Given the description of an element on the screen output the (x, y) to click on. 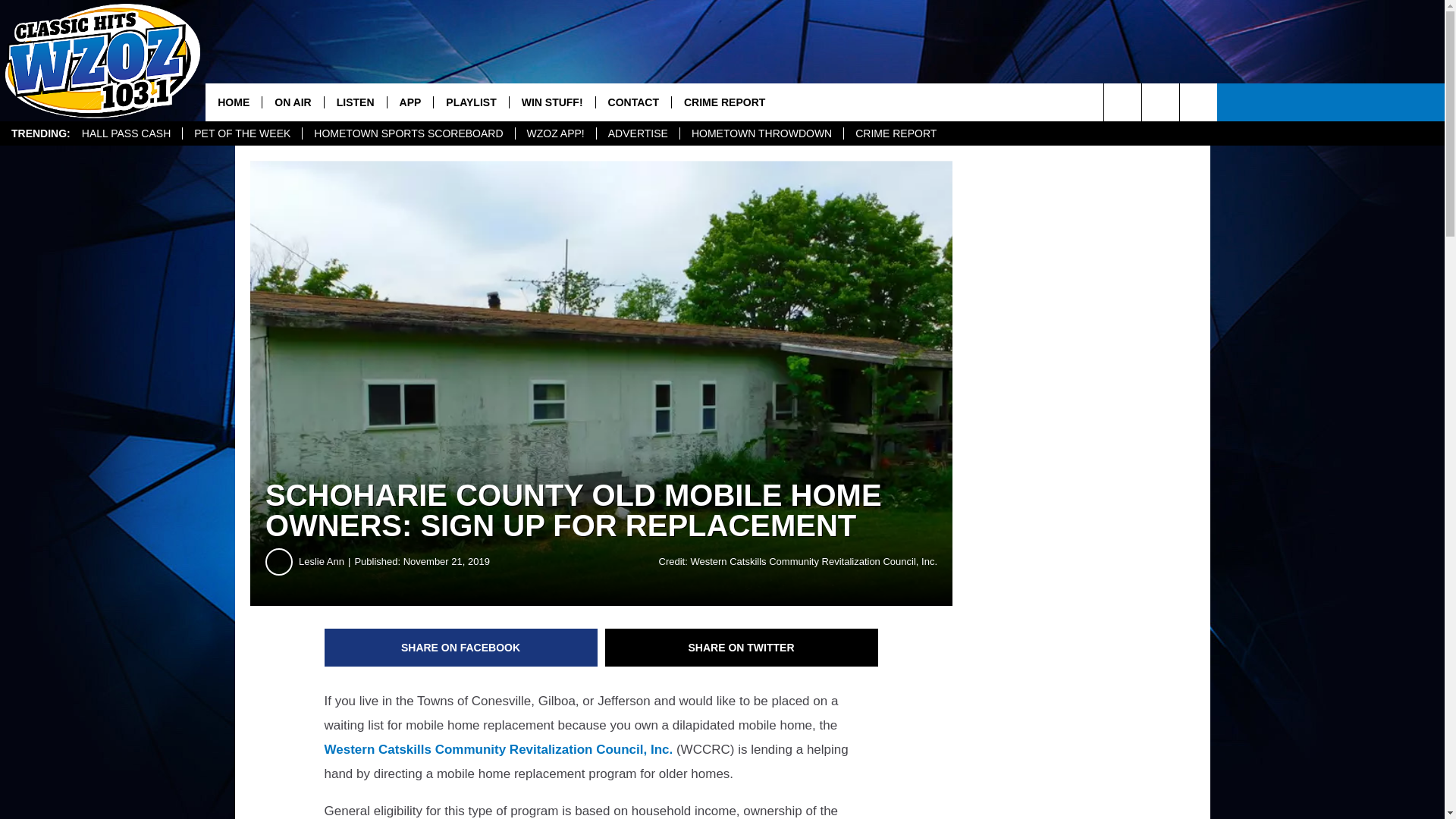
CRIME REPORT (895, 133)
CRIME REPORT (724, 102)
Share on Twitter (741, 647)
HOMETOWN THROWDOWN (761, 133)
ON AIR (292, 102)
HALL PASS CASH (126, 133)
PET OF THE WEEK (241, 133)
Share on Facebook (460, 647)
LISTEN (355, 102)
HOMETOWN SPORTS SCOREBOARD (407, 133)
WZOZ APP! (555, 133)
PLAYLIST (470, 102)
APP (410, 102)
WIN STUFF! (551, 102)
CONTACT (633, 102)
